Given the description of an element on the screen output the (x, y) to click on. 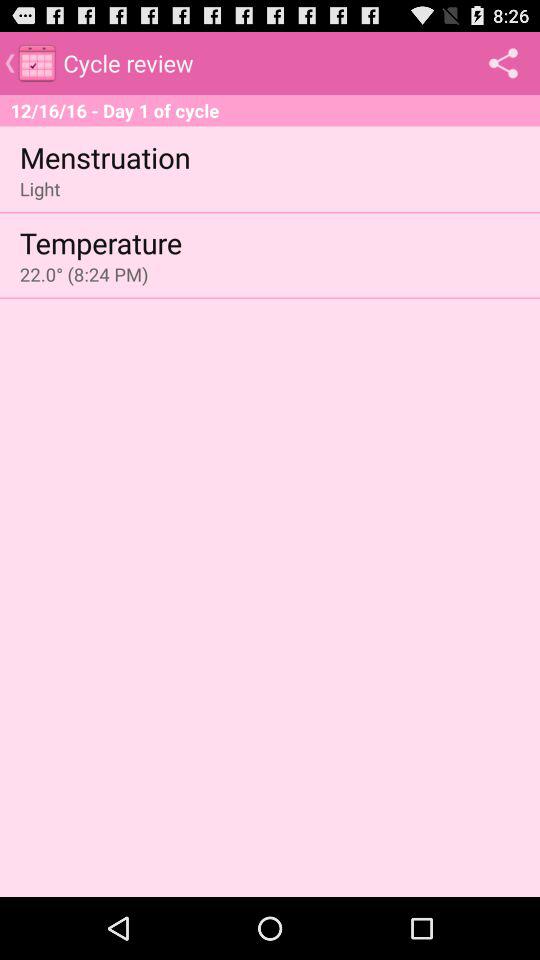
launch 22 0 8 app (83, 273)
